Given the description of an element on the screen output the (x, y) to click on. 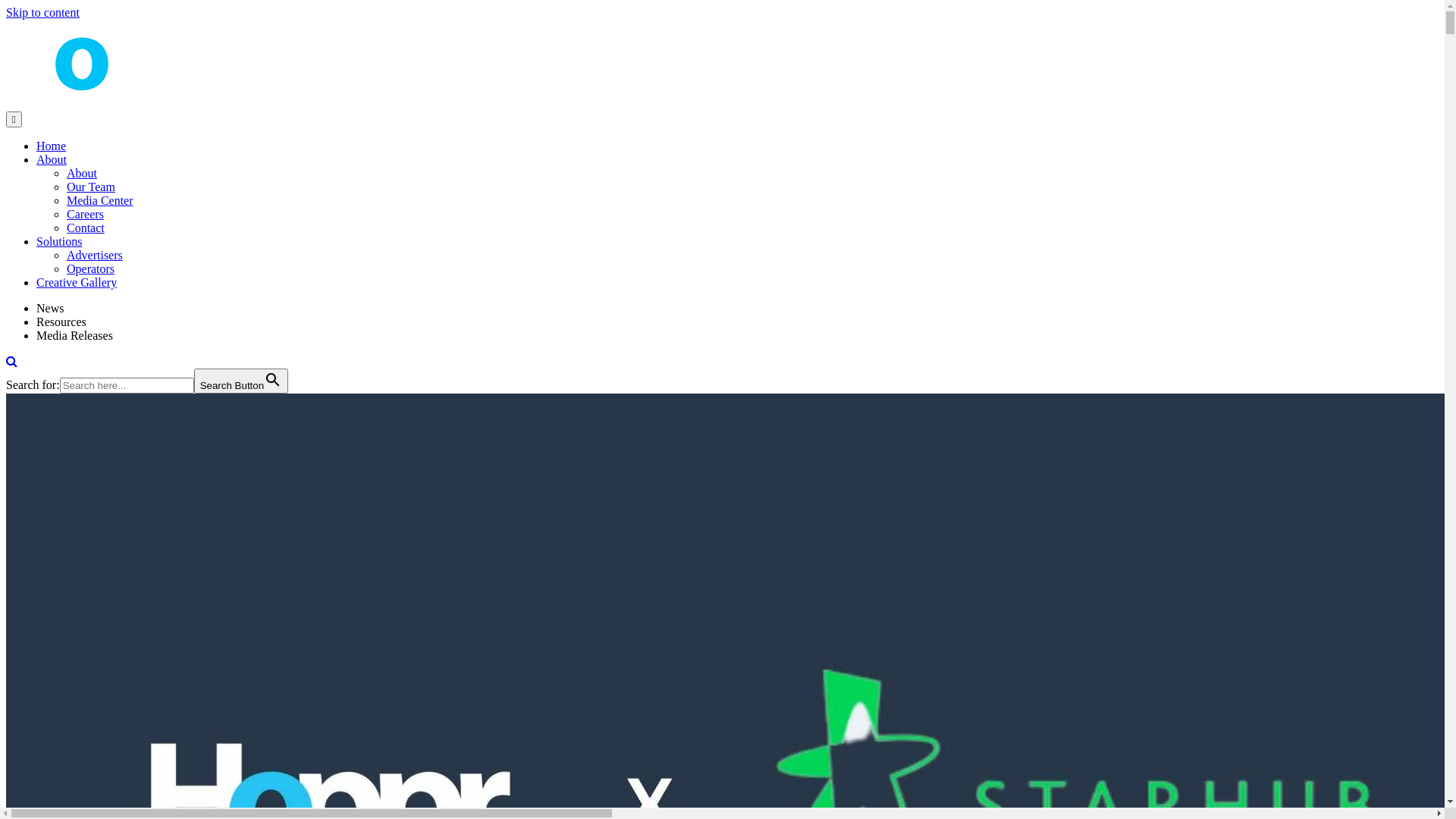
About Element type: text (51, 159)
Home Element type: text (50, 145)
About Element type: text (81, 172)
Menu Element type: text (13, 119)
Search Button Element type: text (241, 380)
Careers Element type: text (84, 213)
Skip to content Element type: text (42, 12)
Media Center Element type: text (99, 200)
Creative Gallery Element type: text (76, 282)
Our Team Element type: text (90, 186)
Solutions Element type: text (58, 241)
Advertisers Element type: text (94, 254)
Contact Element type: text (85, 227)
Operators Element type: text (90, 268)
